Given the description of an element on the screen output the (x, y) to click on. 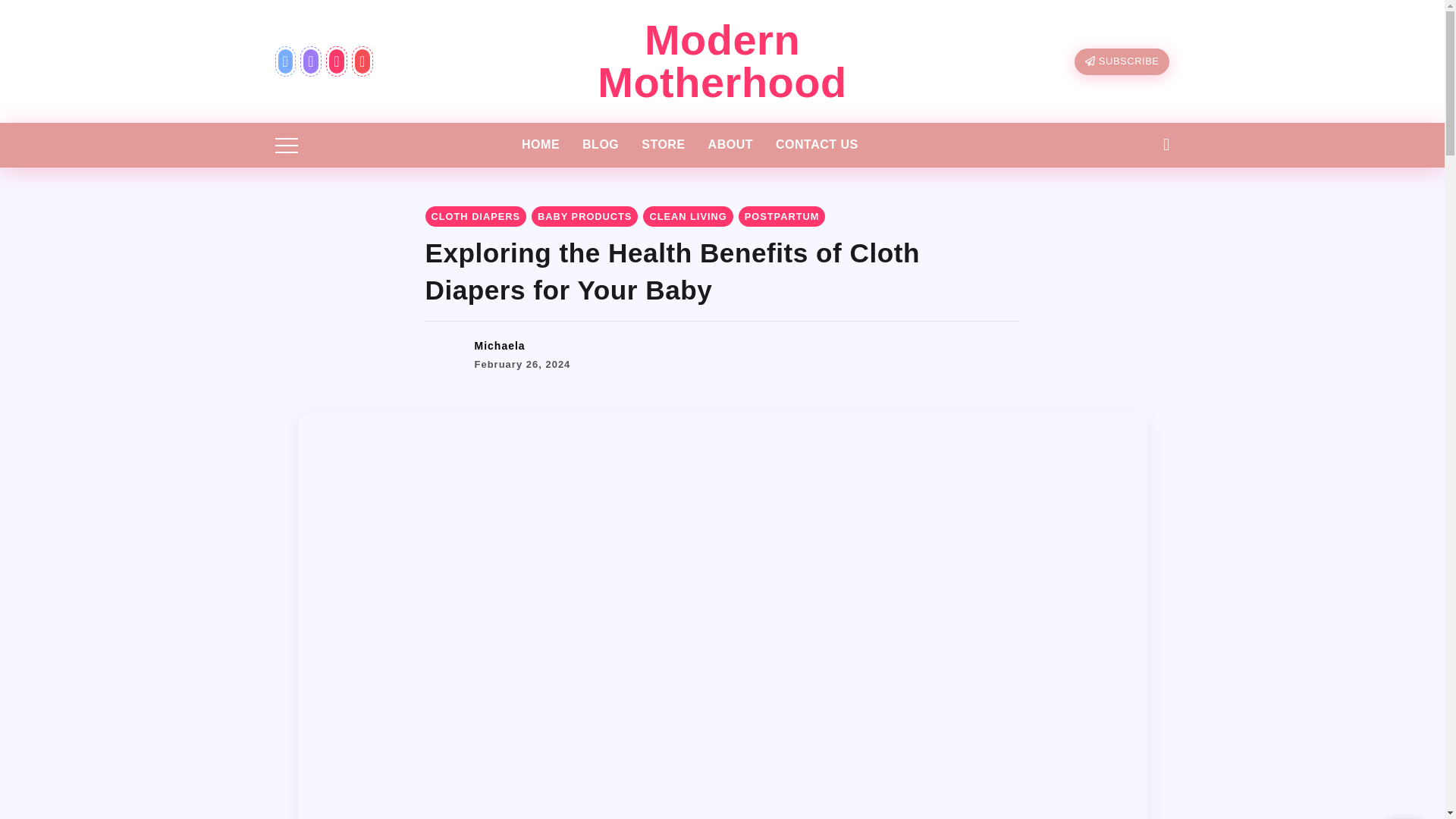
CLEAN LIVING (687, 216)
BLOG (600, 144)
CLOTH DIAPERS (475, 216)
Michaela (499, 345)
HOME (540, 144)
SUBSCRIBE (1122, 61)
Modern Motherhood (720, 60)
ABOUT (729, 144)
STORE (662, 144)
Clean Living (687, 216)
